Given the description of an element on the screen output the (x, y) to click on. 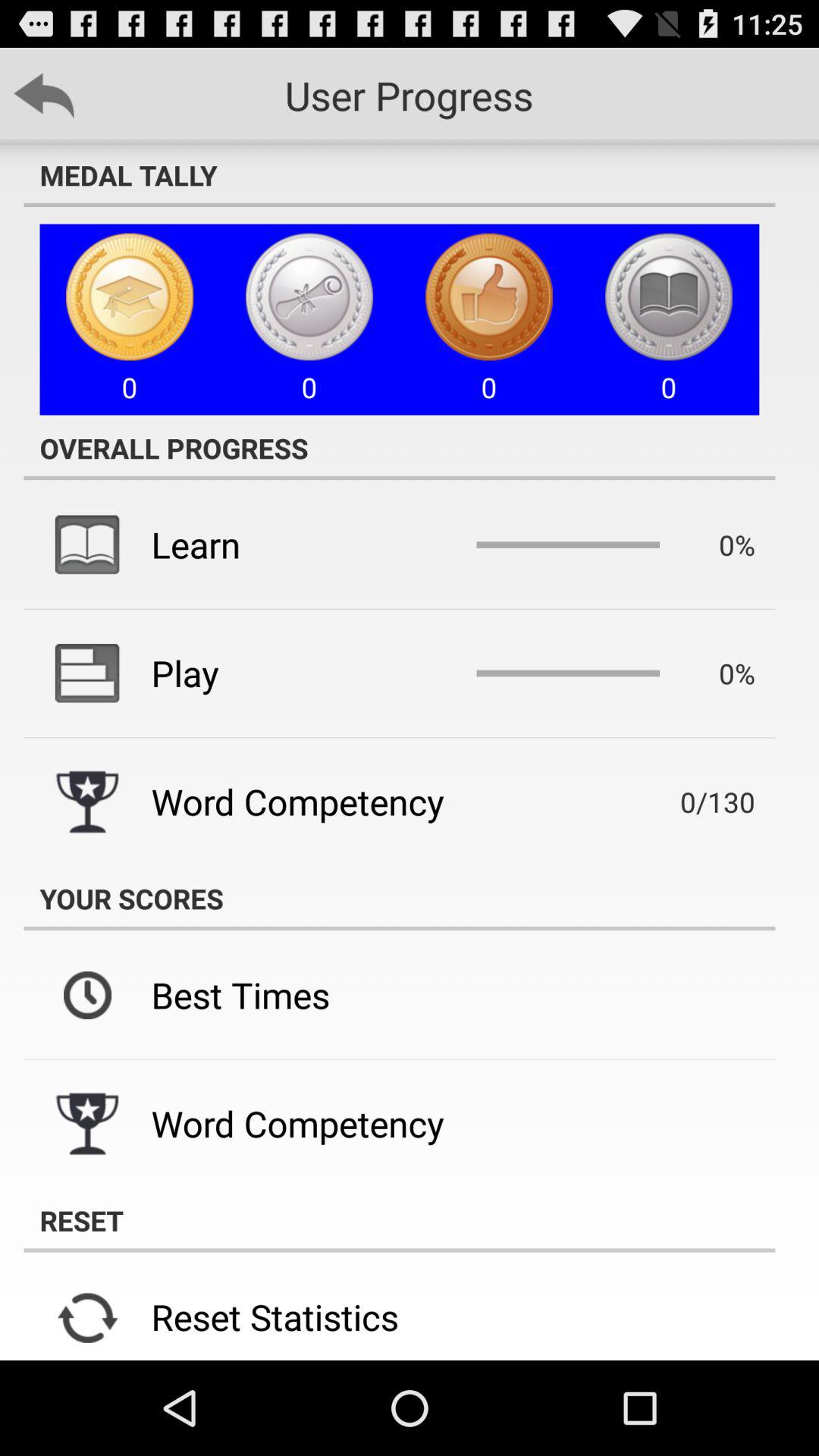
open the icon above the word competency icon (184, 672)
